Given the description of an element on the screen output the (x, y) to click on. 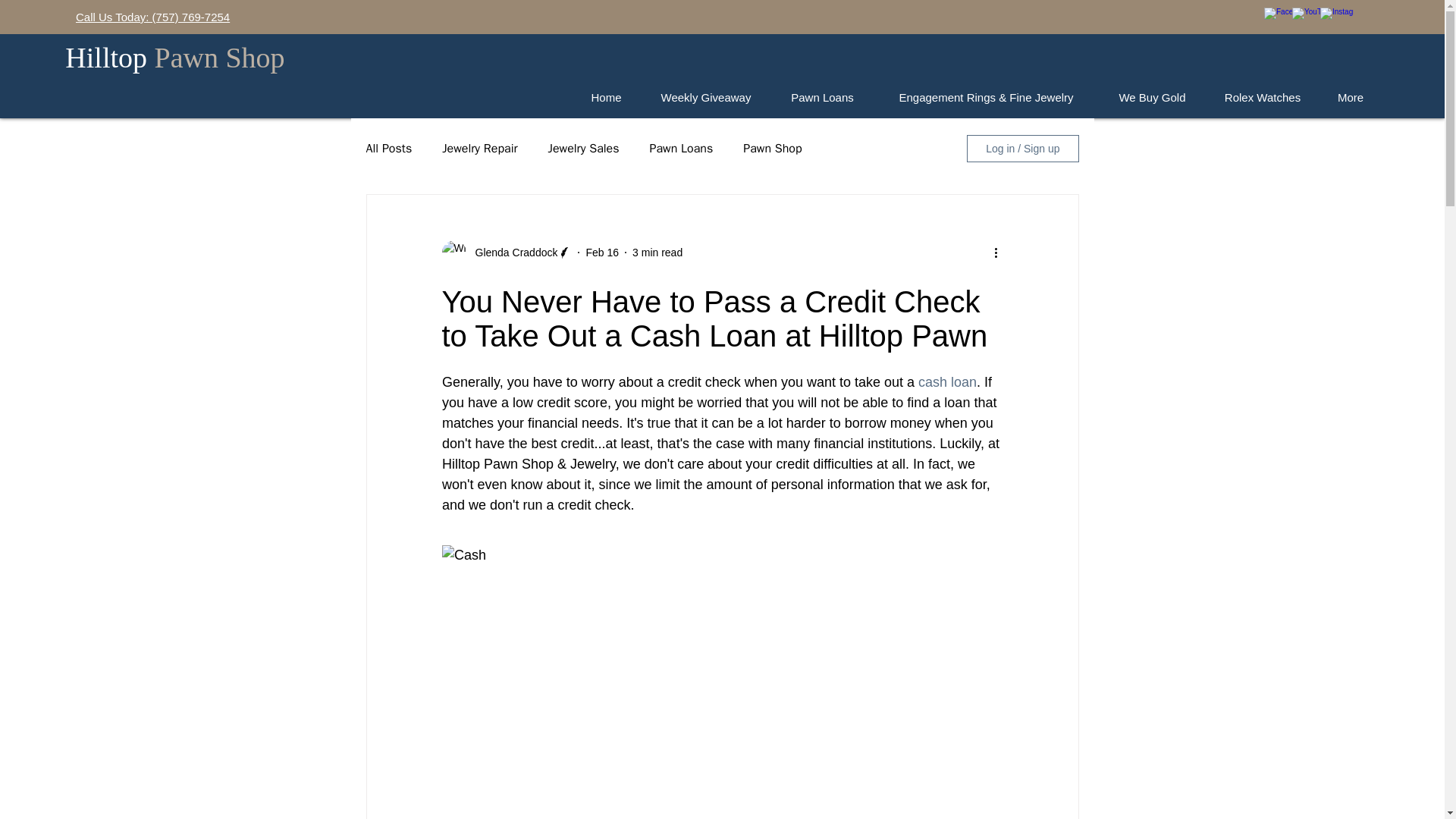
Jewelry Repair (479, 148)
Home (606, 96)
Weekly Giveaway (705, 96)
Feb 16 (601, 251)
Jewelry Sales (584, 148)
3 min read (656, 251)
Pawn Shop (772, 148)
All Posts (388, 148)
Glenda Craddock (511, 252)
Pawn Loans (681, 148)
cash loan (947, 381)
Hilltop Pawn Shop (174, 57)
Pawn Loans (821, 96)
